Given the description of an element on the screen output the (x, y) to click on. 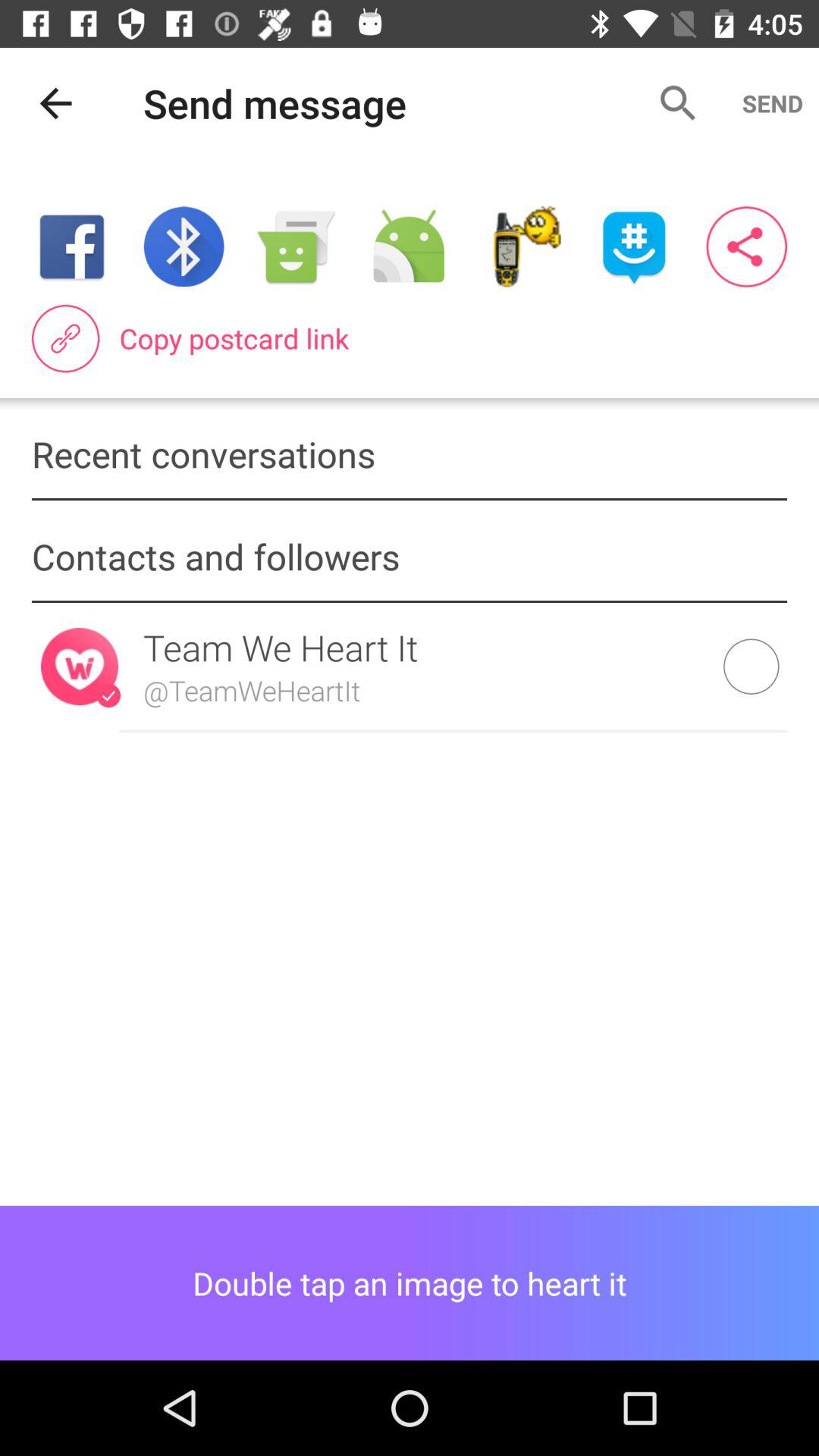
select the item below the send message item (408, 246)
